Given the description of an element on the screen output the (x, y) to click on. 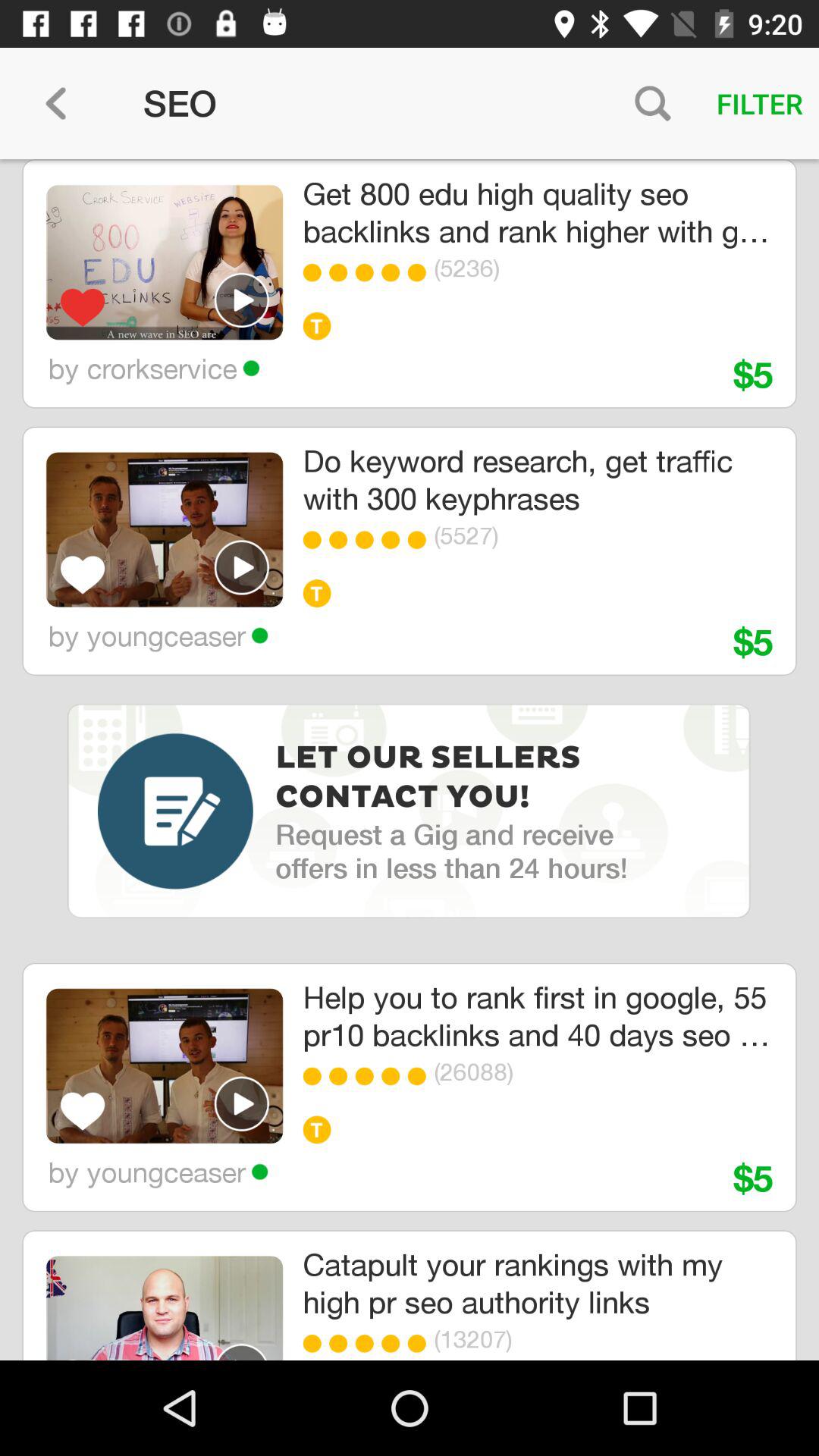
scroll until help you to item (537, 1015)
